Given the description of an element on the screen output the (x, y) to click on. 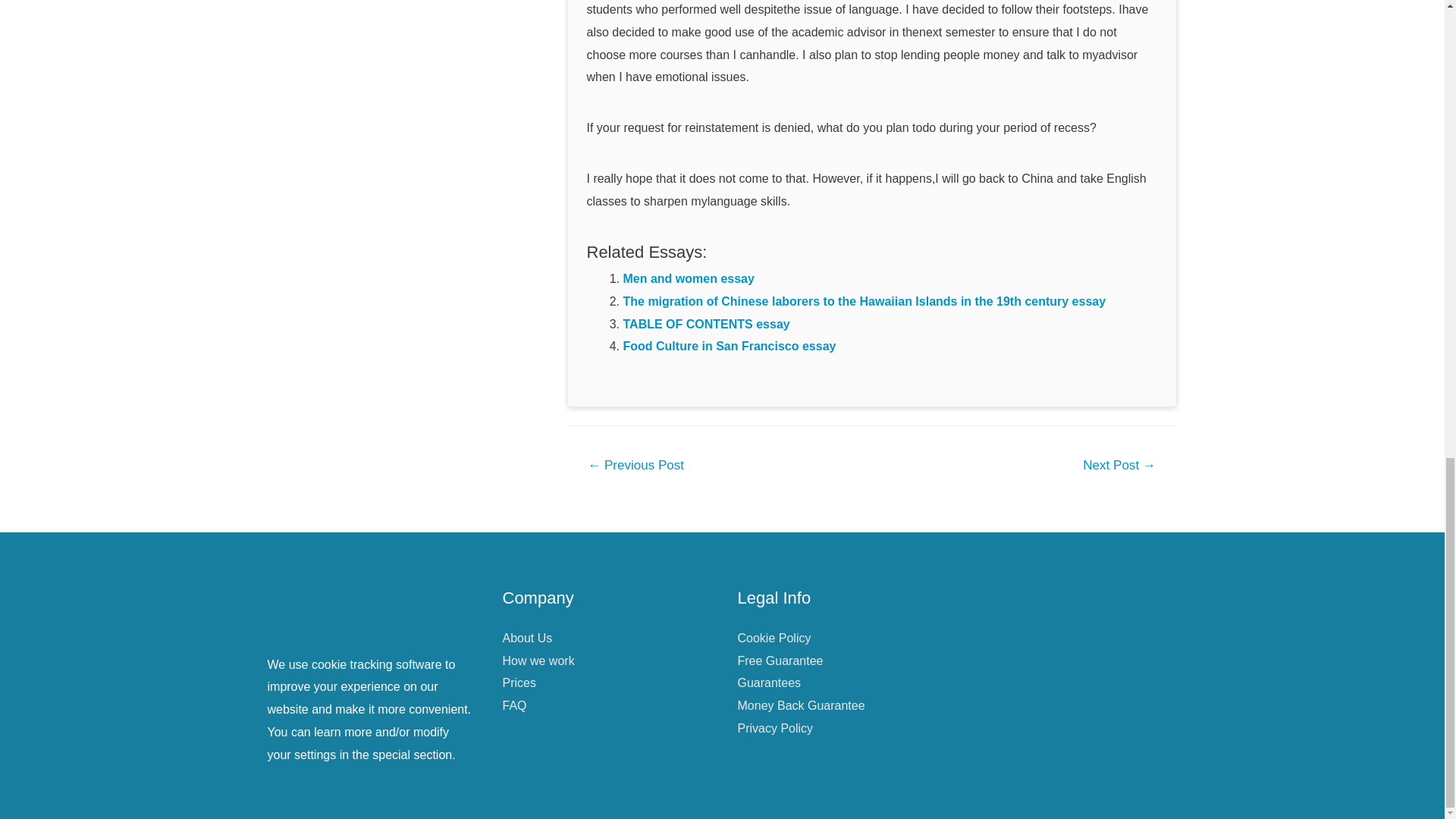
FAQ (513, 705)
Men and women essay (688, 278)
Men and women essay (688, 278)
TABLE OF CONTENTS essay (706, 323)
Prices (518, 682)
Food Culture in San Francisco essay (729, 345)
About Us (526, 637)
Food Culture in San Francisco essay (729, 345)
Money Back Guarantee (800, 705)
TABLE OF CONTENTS essay (706, 323)
Privacy Policy (774, 727)
Free Guarantee (779, 660)
Guarantees (768, 682)
